Given the description of an element on the screen output the (x, y) to click on. 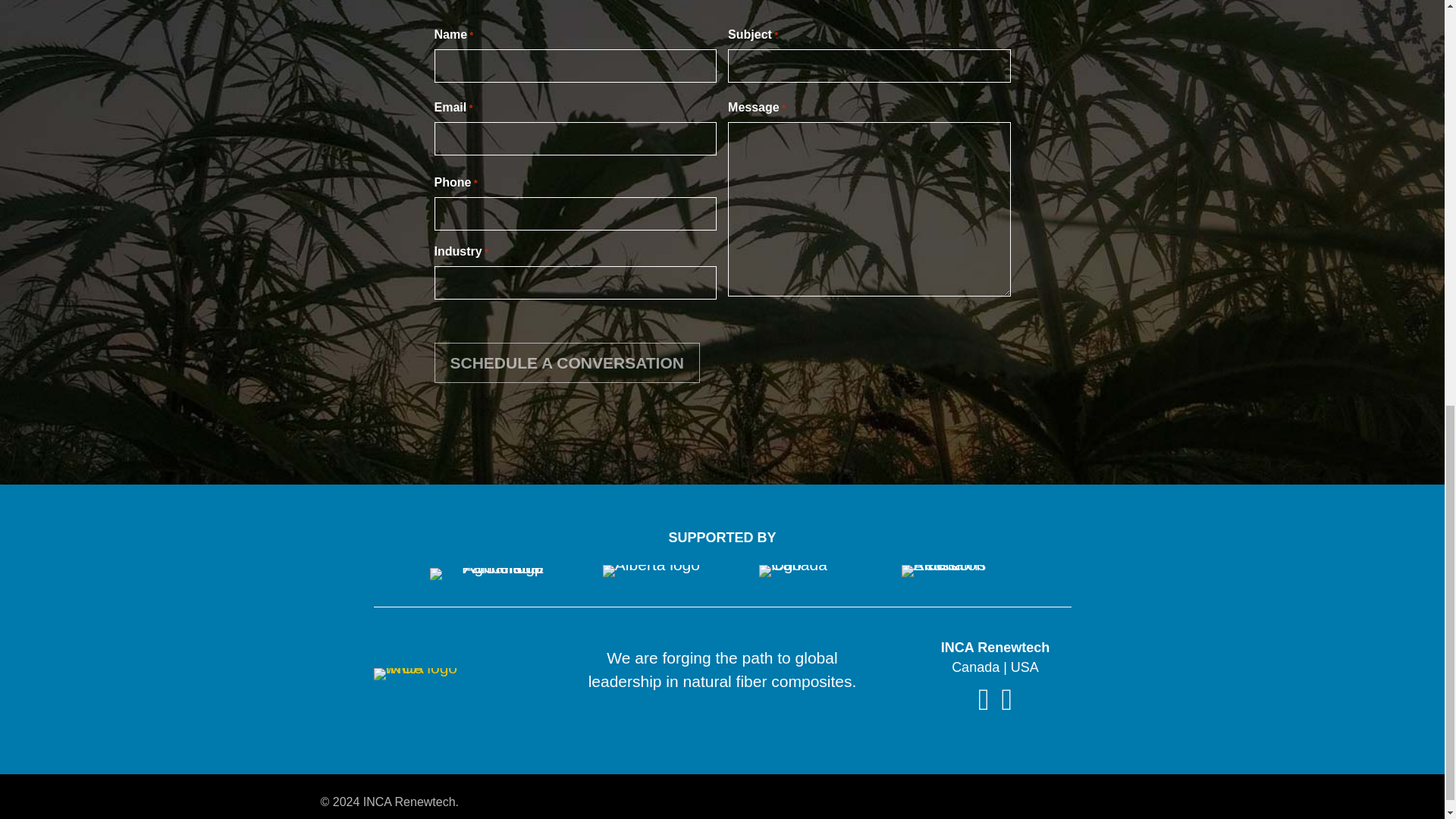
Schedule a Conversation (565, 363)
Canadia Agricultural Partnership logo (486, 573)
ERA-white (946, 571)
Alberta logo (651, 571)
Schedule a Conversation (565, 363)
Canada logo (804, 571)
